Given the description of an element on the screen output the (x, y) to click on. 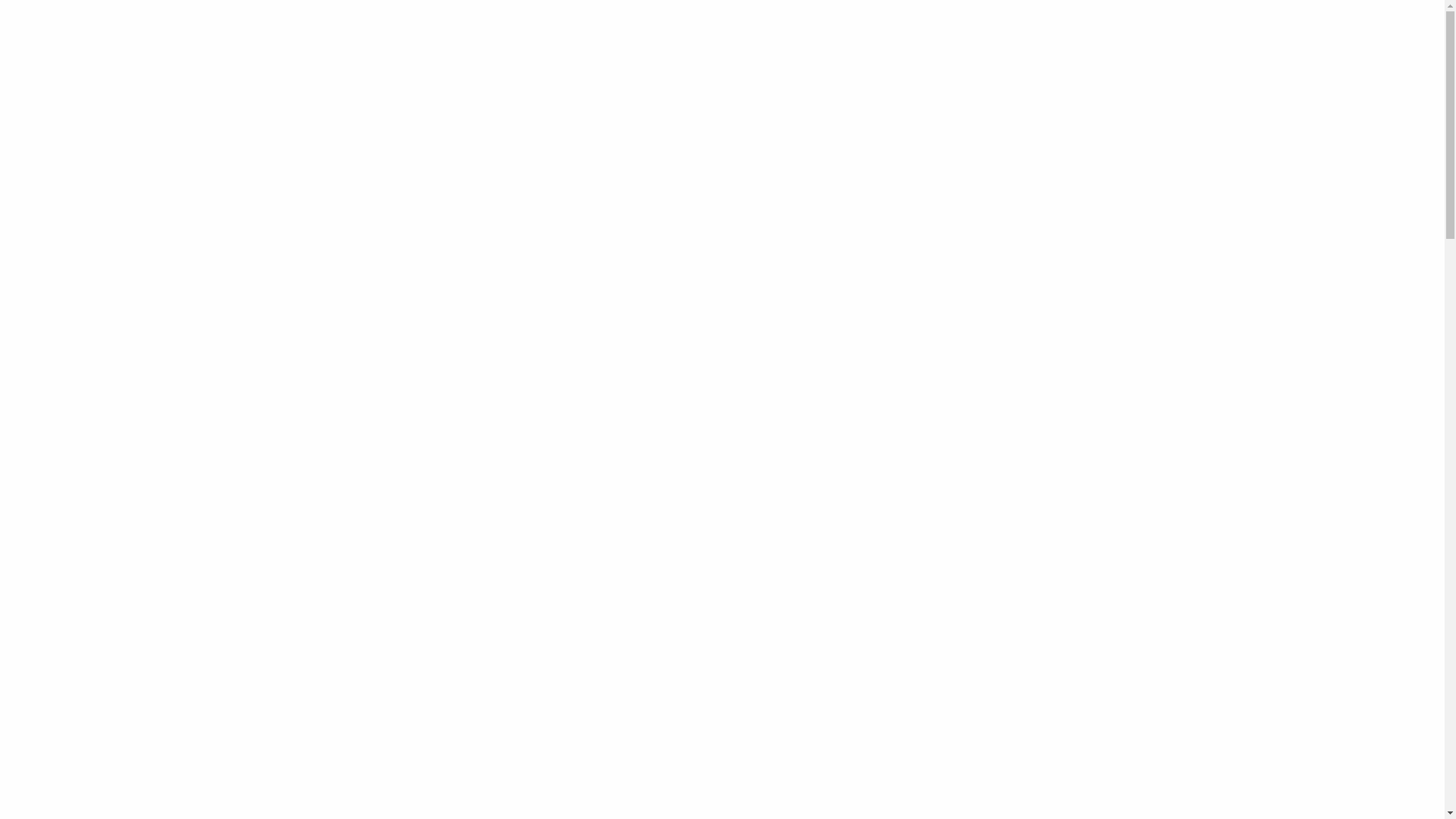
VIEW OUR WORK Element type: text (721, 364)
Contact Us Element type: text (1127, 28)
About Us Element type: text (1065, 28)
Home Element type: text (964, 28)
Gallery Element type: text (1010, 28)
